Given the description of an element on the screen output the (x, y) to click on. 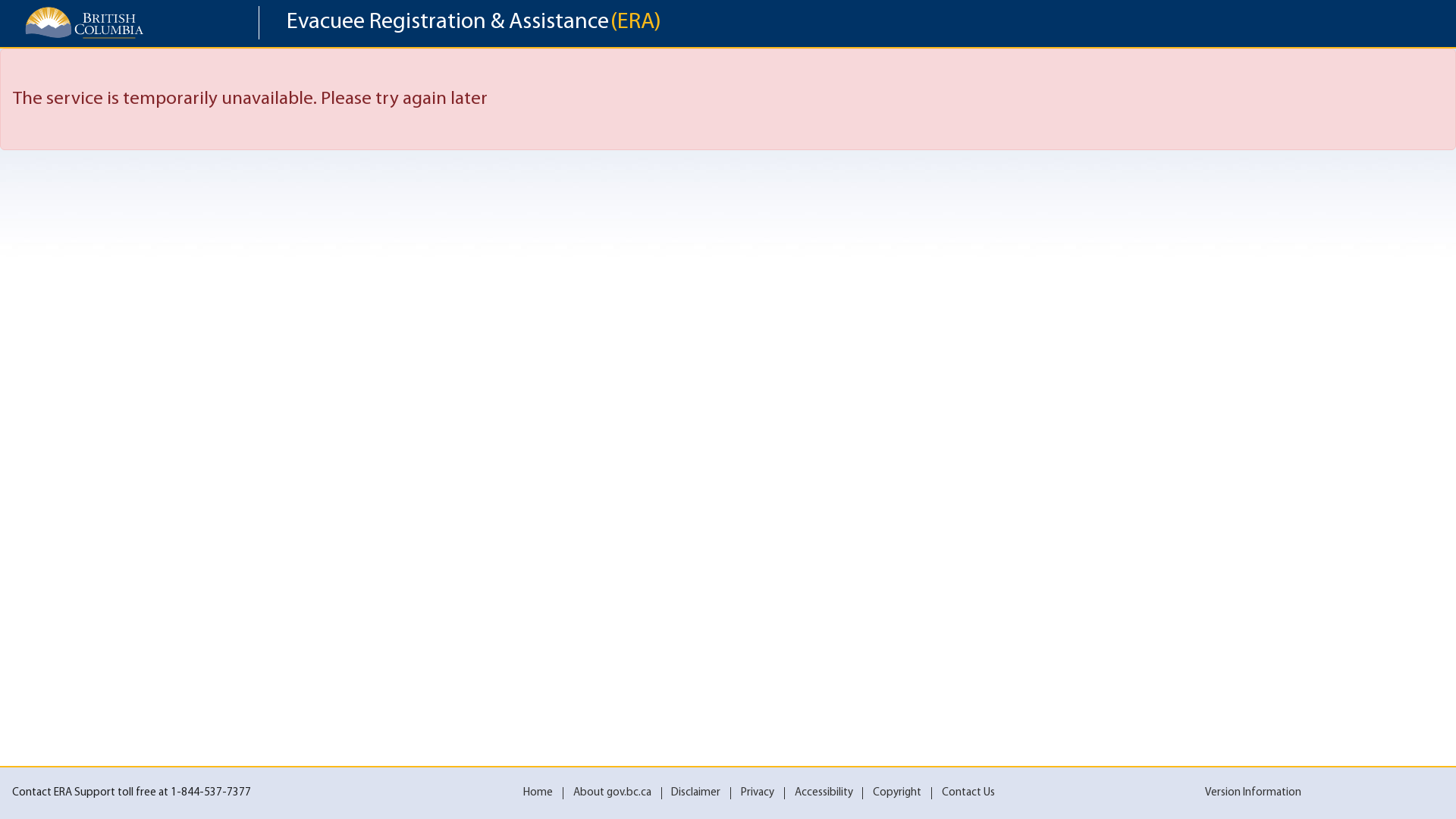
Accessibility Element type: text (823, 792)
Disclaimer Element type: text (696, 792)
About gov.bc.ca Element type: text (612, 792)
Copyright Element type: text (896, 792)
Privacy Element type: text (757, 792)
Home Element type: text (537, 792)
Contact Us Element type: text (967, 792)
